Given the description of an element on the screen output the (x, y) to click on. 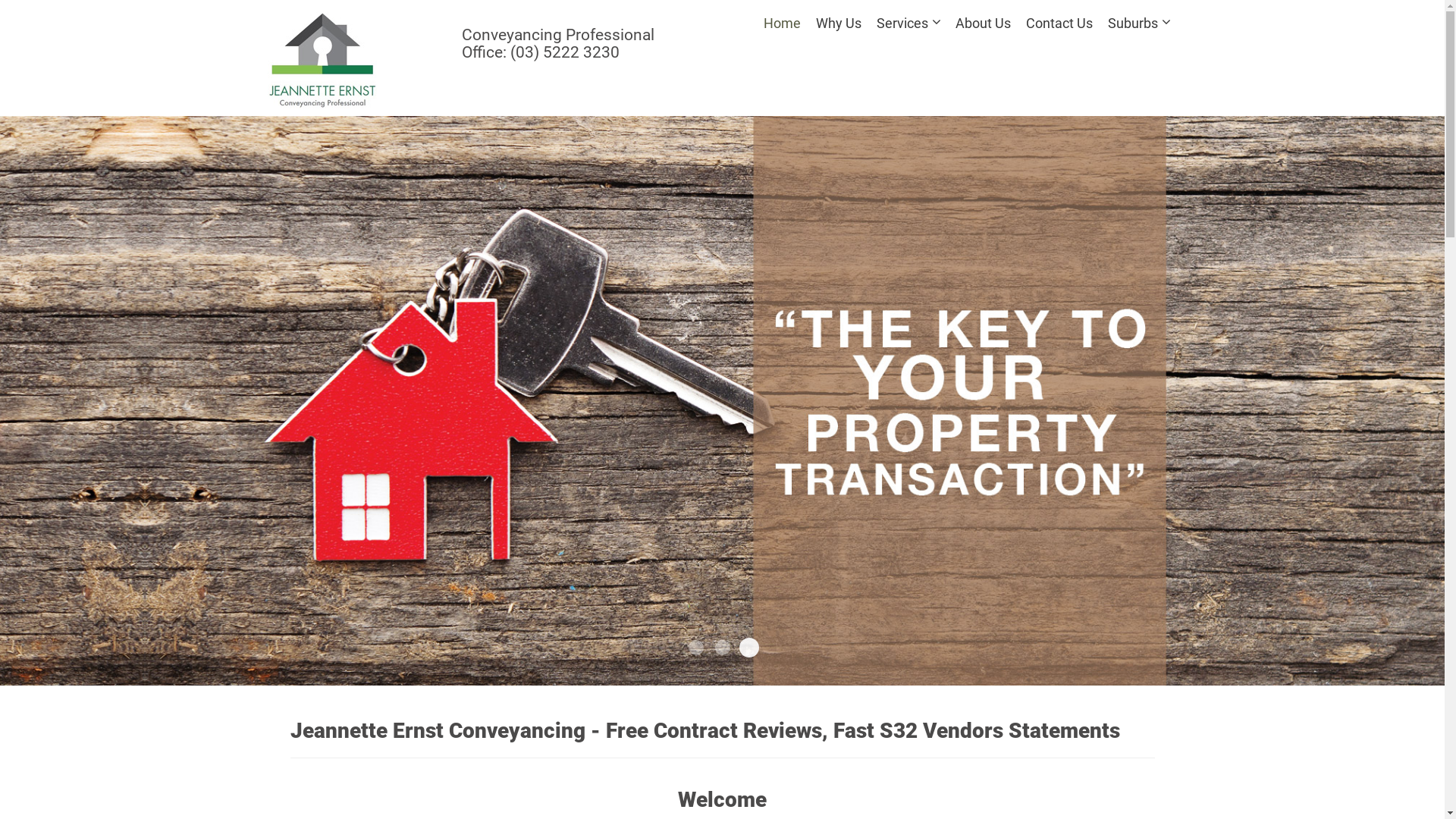
Why Us Element type: text (838, 22)
Banner Grass Element type: text (721, 647)
Contact Us Element type: text (1058, 22)
Suburbs Element type: text (1137, 22)
Services Element type: text (908, 22)
Banner Sample Element type: text (695, 647)
Home Element type: text (781, 22)
About Us Element type: text (982, 22)
Banner Wood Element type: text (745, 644)
